Given the description of an element on the screen output the (x, y) to click on. 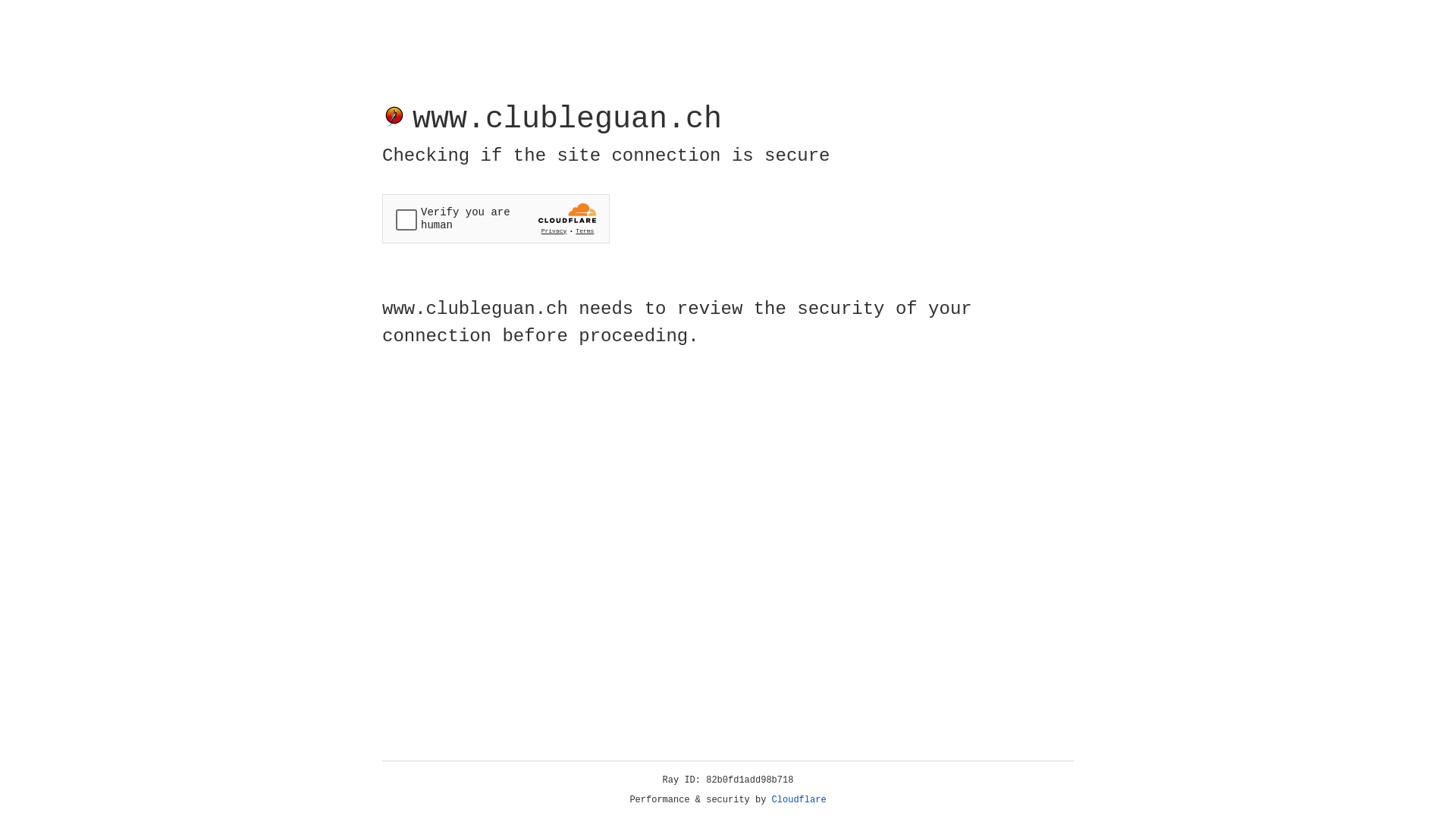
Cloudflare Element type: text (798, 799)
Widget containing a Cloudflare security challenge Element type: hover (495, 218)
